Given the description of an element on the screen output the (x, y) to click on. 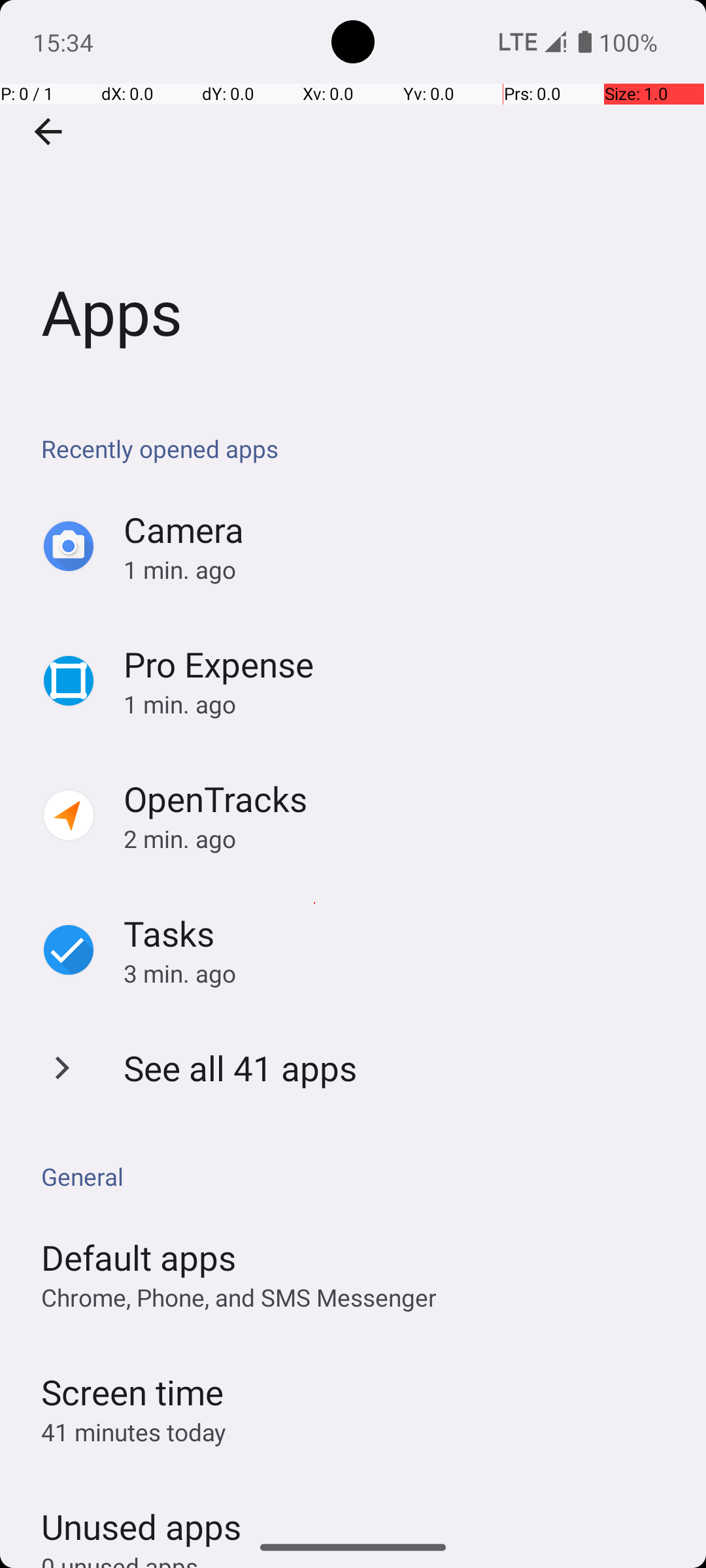
3 min. ago Element type: android.widget.TextView (400, 972)
41 minutes today Element type: android.widget.TextView (133, 1431)
